Given the description of an element on the screen output the (x, y) to click on. 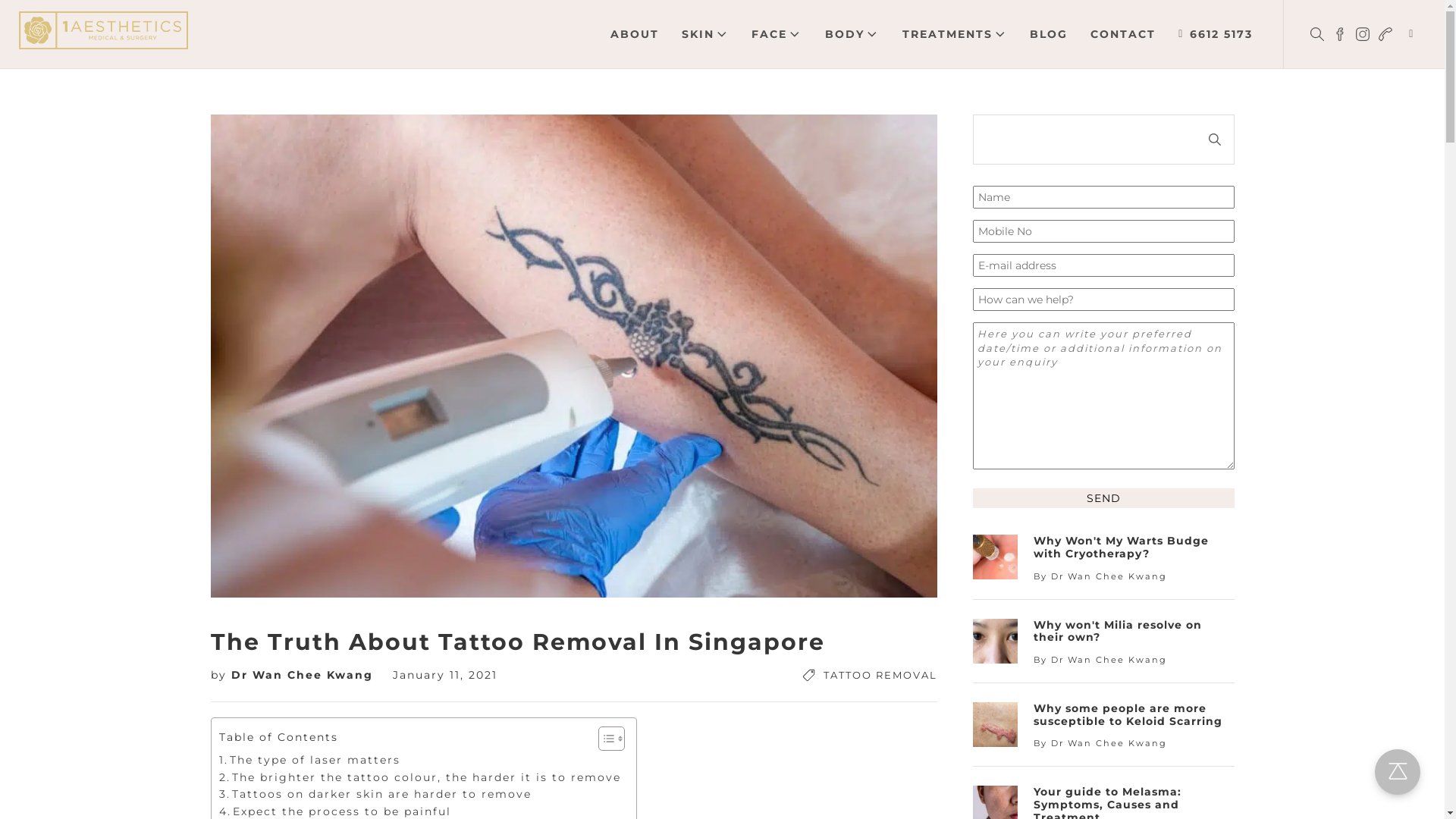
FACE Element type: text (776, 34)
BODY Element type: text (852, 34)
The brighter the tattoo colour, the harder it is to remove Element type: text (419, 776)
Why some people are more susceptible to Keloid Scarring Element type: text (1133, 715)
CONTACT Element type: text (1123, 34)
Send Element type: text (1103, 498)
Why won't Milia resolve on their own? Element type: text (1133, 631)
Search Element type: text (1214, 139)
BLOG Element type: text (1048, 34)
The type of laser matters Element type: text (309, 759)
TREATMENTS Element type: text (955, 34)
Tattoos on darker skin are harder to remove Element type: text (374, 793)
SKIN Element type: text (705, 34)
ABOUT Element type: text (634, 34)
Why Won't My Warts Budge with Cryotherapy? Element type: text (1133, 547)
TATTOO REMOVAL Element type: text (880, 674)
6612 5173 Element type: text (1215, 34)
